Given the description of an element on the screen output the (x, y) to click on. 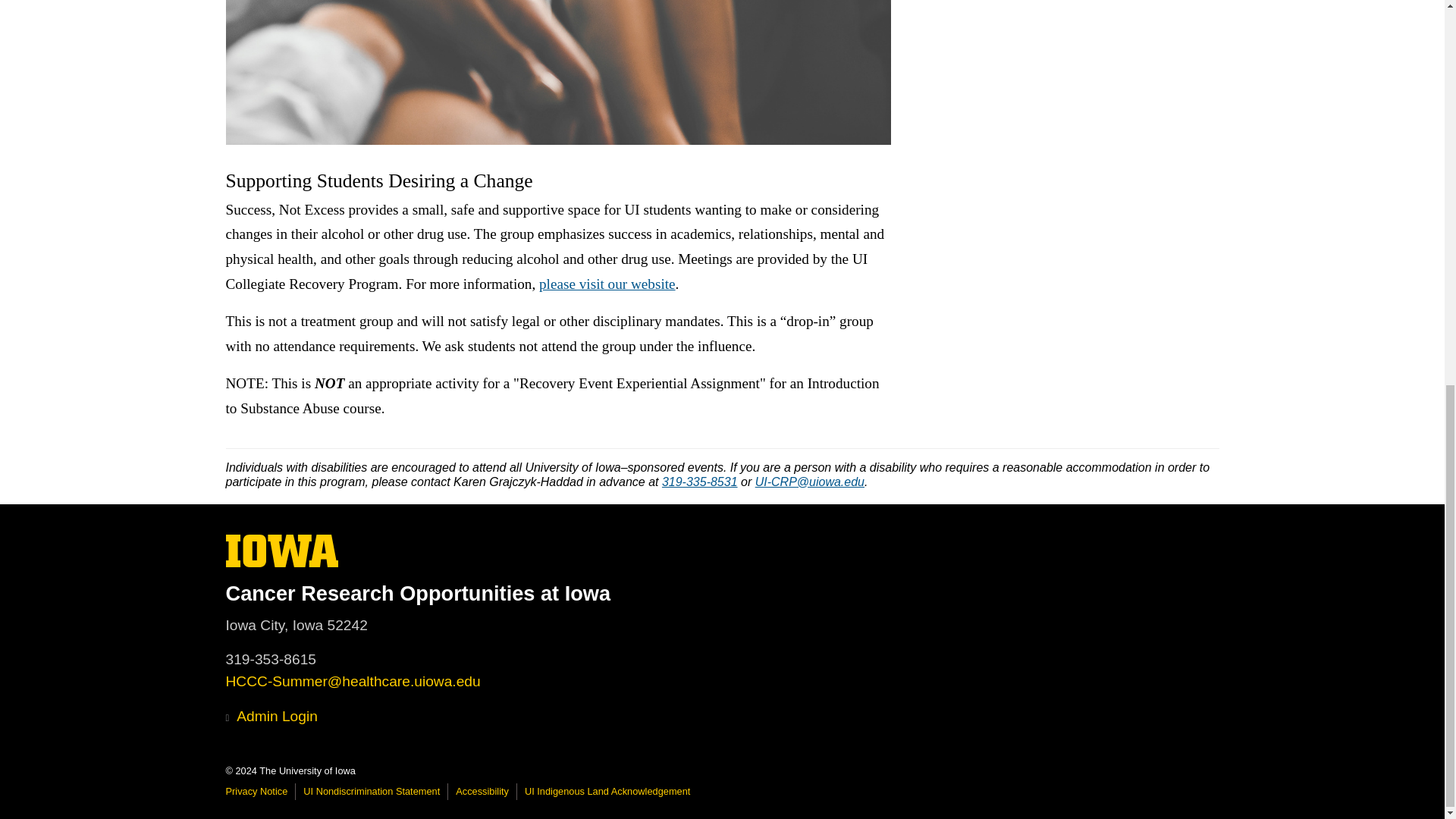
Admin Login (271, 715)
please visit our website (606, 283)
Accessibility (481, 790)
UI Nondiscrimination Statement (282, 562)
UI Indigenous Land Acknowledgement (370, 790)
Privacy Notice (607, 790)
University of Iowa (256, 790)
319-335-8531 (282, 550)
Cancer Research Opportunities at Iowa (700, 481)
